Given the description of an element on the screen output the (x, y) to click on. 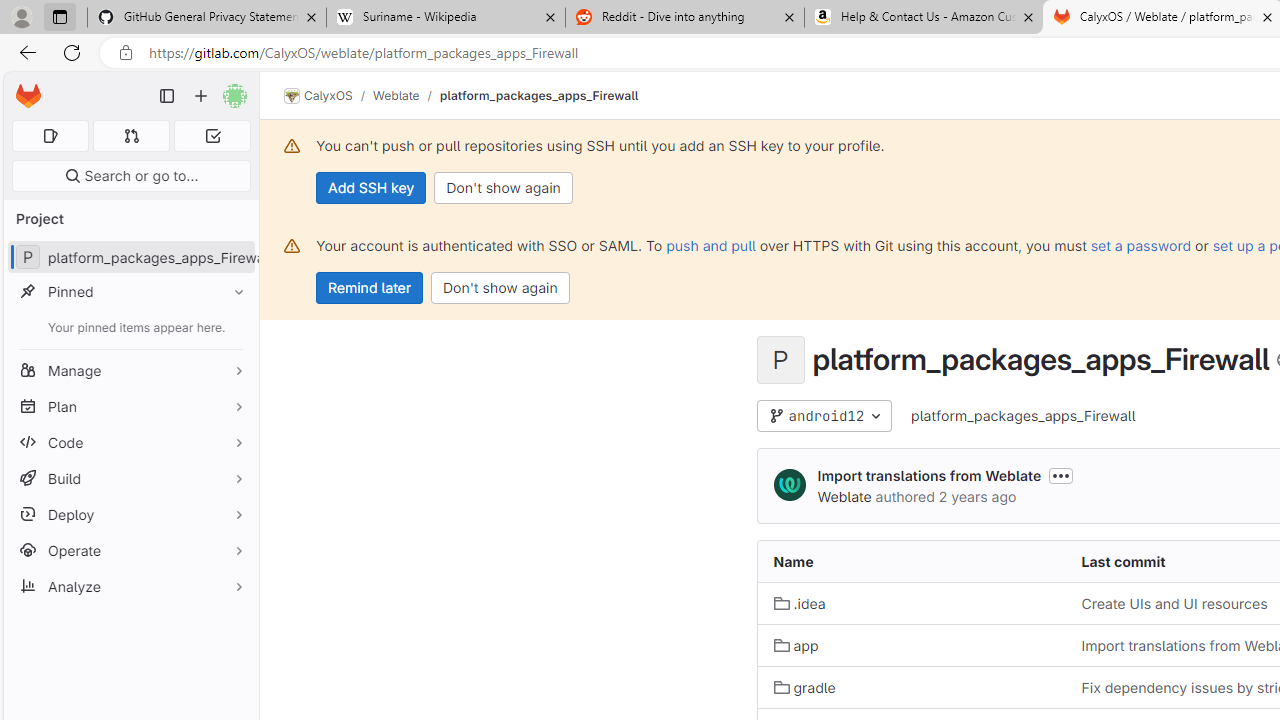
Add SSH key (371, 187)
To-Do list 0 (212, 136)
P platform_packages_apps_Firewall (130, 257)
app (911, 645)
android12 (824, 416)
Deploy (130, 514)
.idea (911, 602)
Create new... (201, 96)
platform_packages_apps_Firewall (1023, 415)
Operate (130, 550)
Pplatform_packages_apps_Firewall (130, 257)
push and pull (710, 245)
platform_packages_apps_Firewall (1023, 416)
